Given the description of an element on the screen output the (x, y) to click on. 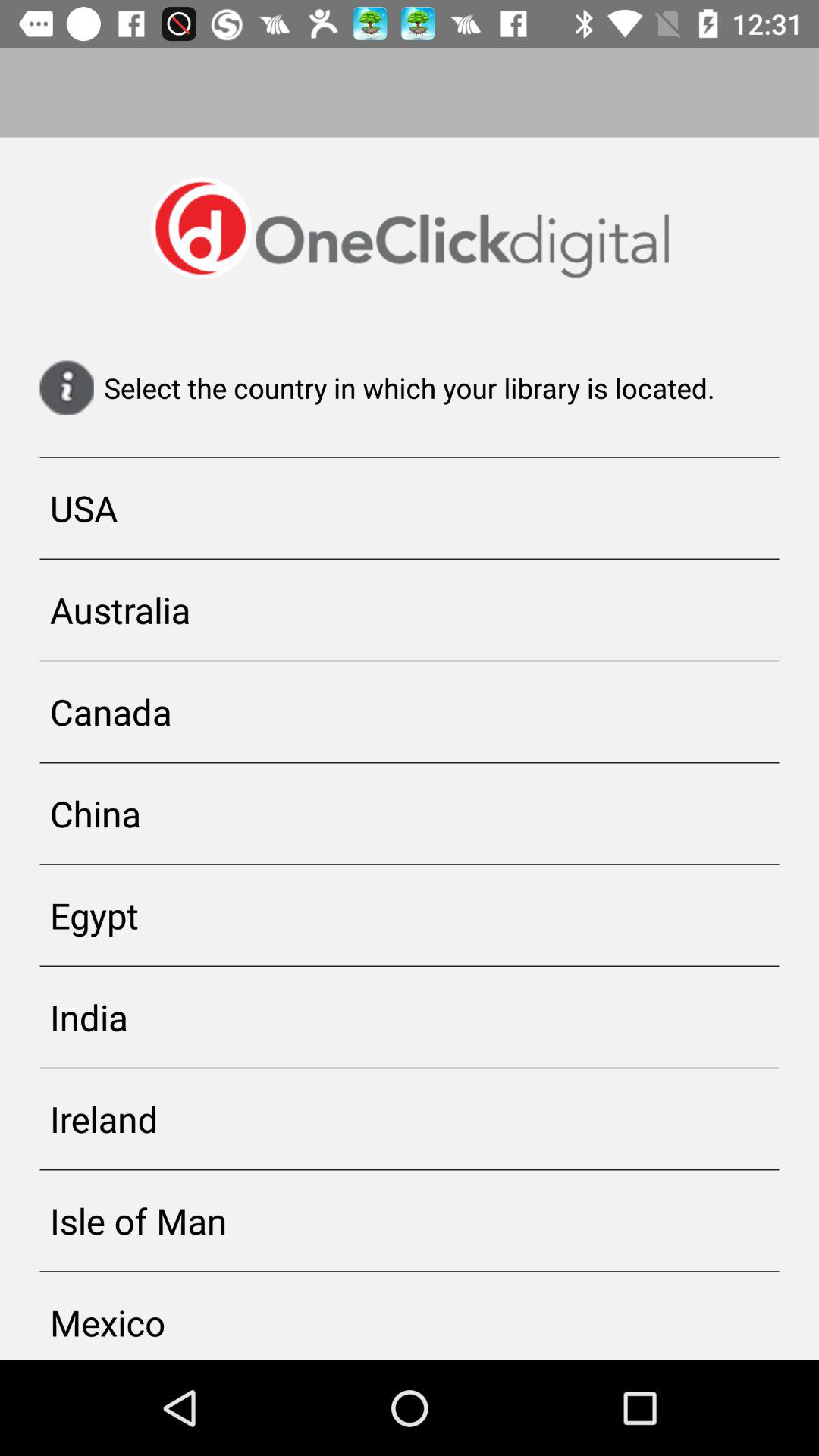
turn on egypt icon (409, 915)
